Given the description of an element on the screen output the (x, y) to click on. 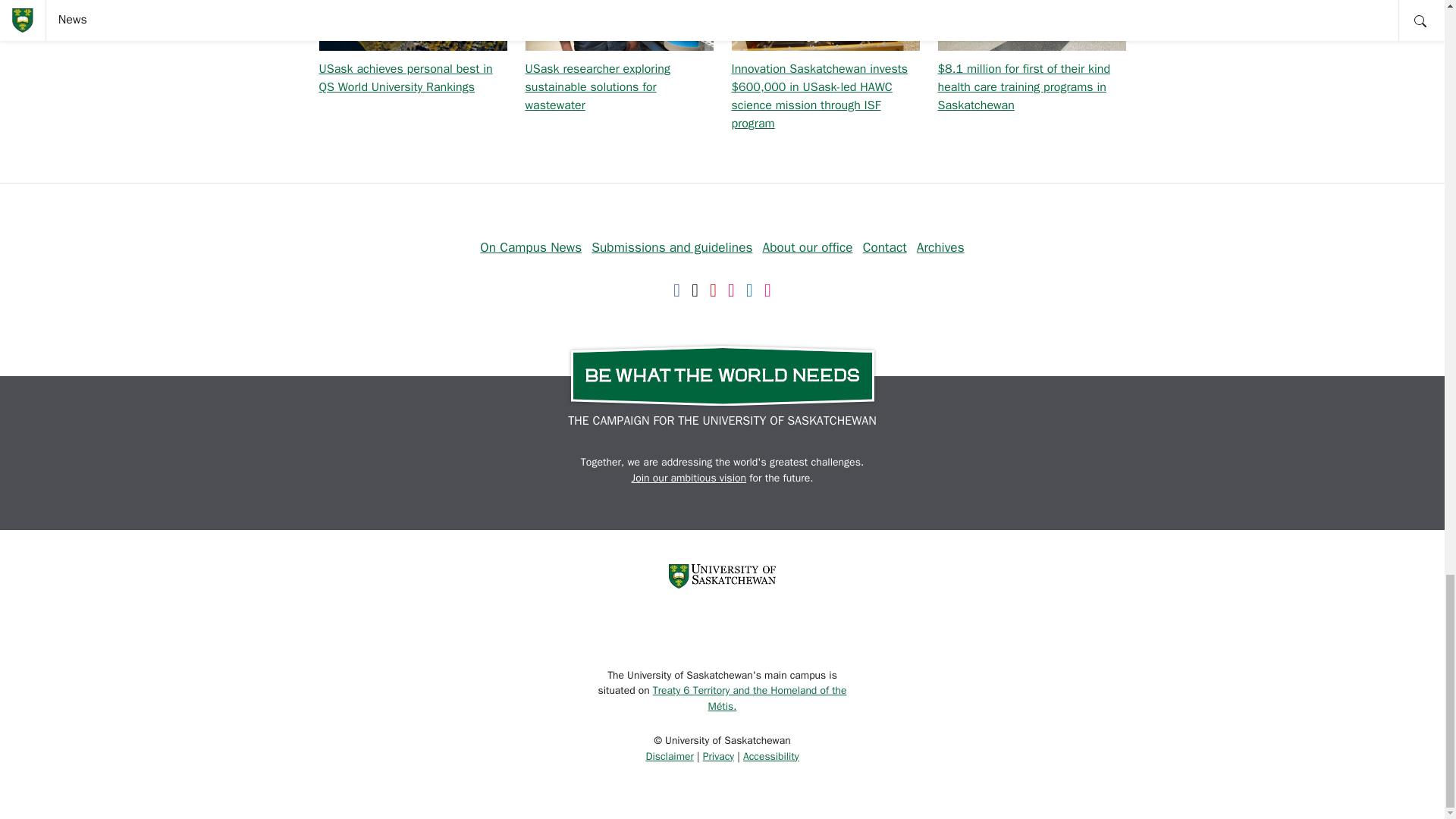
USask achieves personal best in QS World University Rankings (405, 78)
About our office (807, 247)
Archives (940, 247)
Contact (885, 247)
Privacy (718, 755)
On Campus News (530, 247)
Join our ambitious vision (688, 477)
Accessibility (770, 755)
Submissions and guidelines (671, 247)
